Given the description of an element on the screen output the (x, y) to click on. 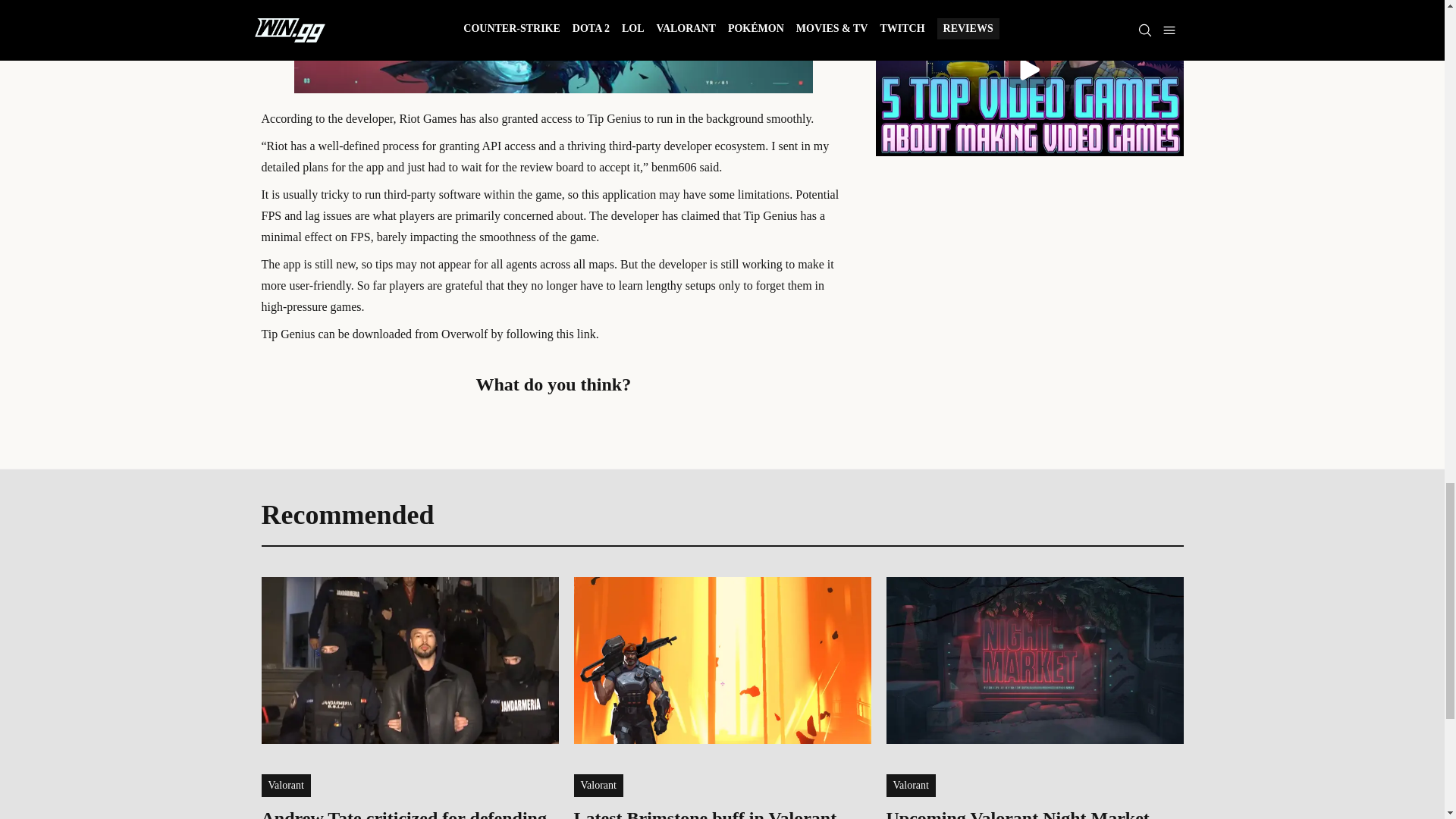
this link (575, 333)
Valorant (285, 784)
benm606 said. (686, 166)
